Given the description of an element on the screen output the (x, y) to click on. 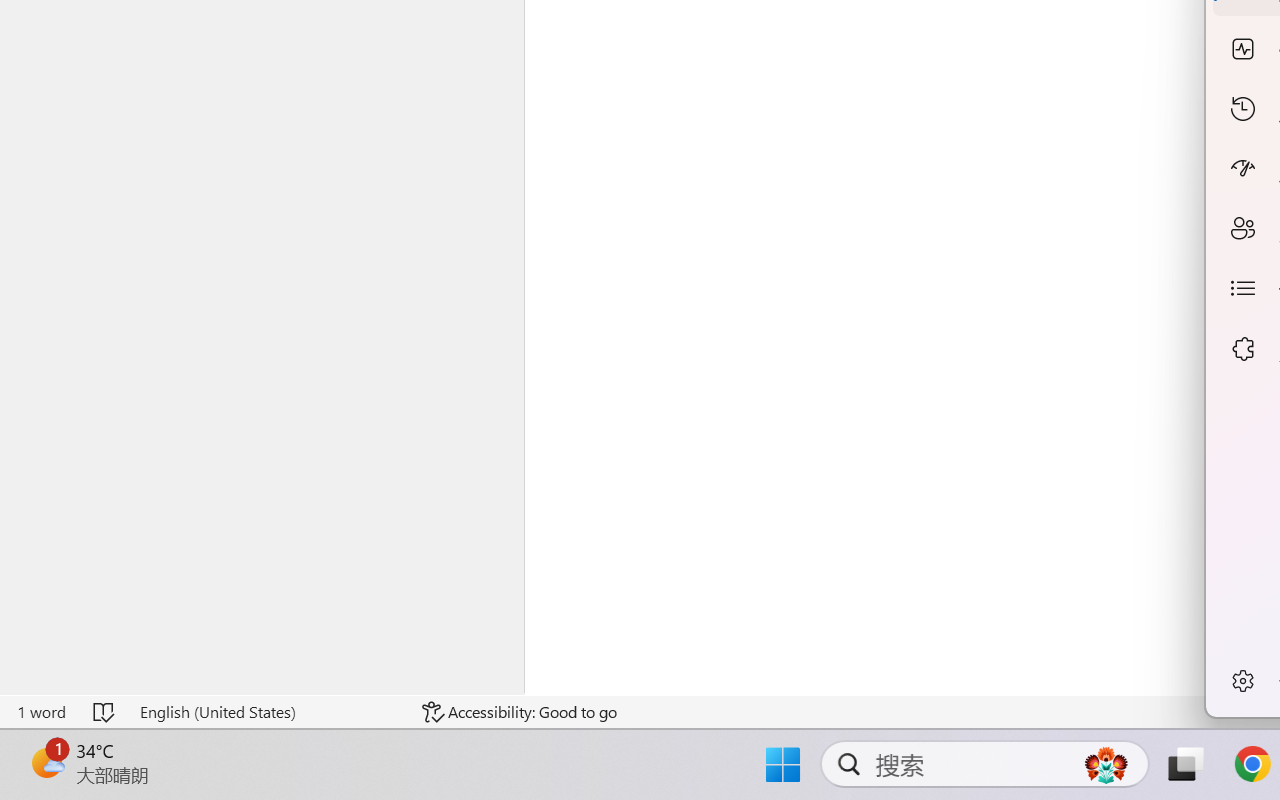
Language English (United States) (267, 712)
AutomationID: BadgeAnchorLargeTicker (46, 762)
Accessibility Checker Accessibility: Good to go (519, 712)
Spelling and Grammar Check No Errors (105, 712)
Word Count 1 word (41, 712)
